Given the description of an element on the screen output the (x, y) to click on. 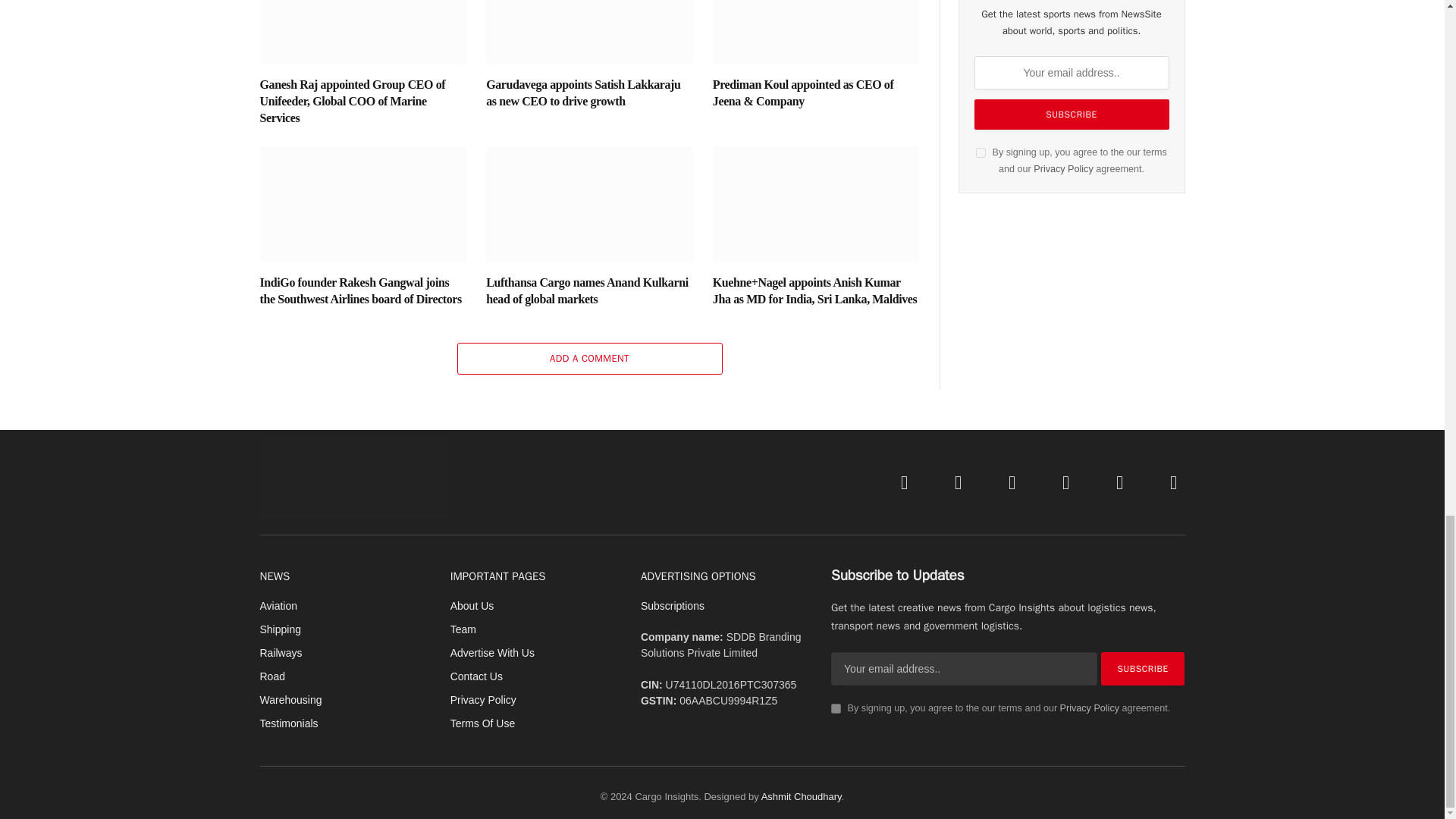
on (836, 708)
Subscribe (1071, 114)
Subscribe (1142, 668)
on (980, 153)
